Given the description of an element on the screen output the (x, y) to click on. 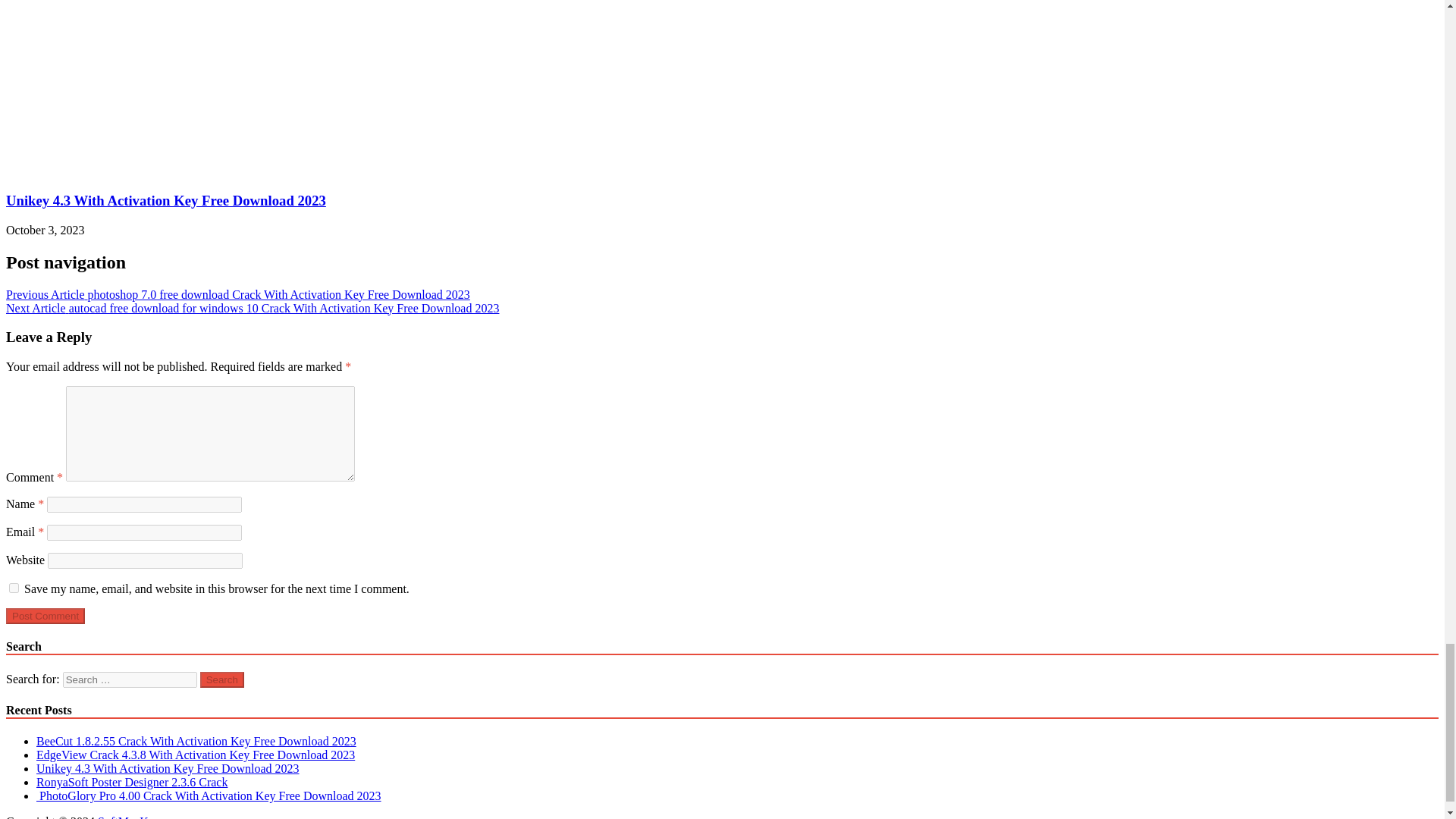
Search (222, 679)
Search (222, 679)
SoftMacKey (127, 816)
Post Comment (44, 616)
Unikey 4.3 With Activation Key Free Download 2023 (90, 170)
BeeCut 1.8.2.55 Crack With Activation Key Free Download 2023 (196, 740)
yes (13, 587)
Post Comment (44, 616)
Search (222, 679)
